Given the description of an element on the screen output the (x, y) to click on. 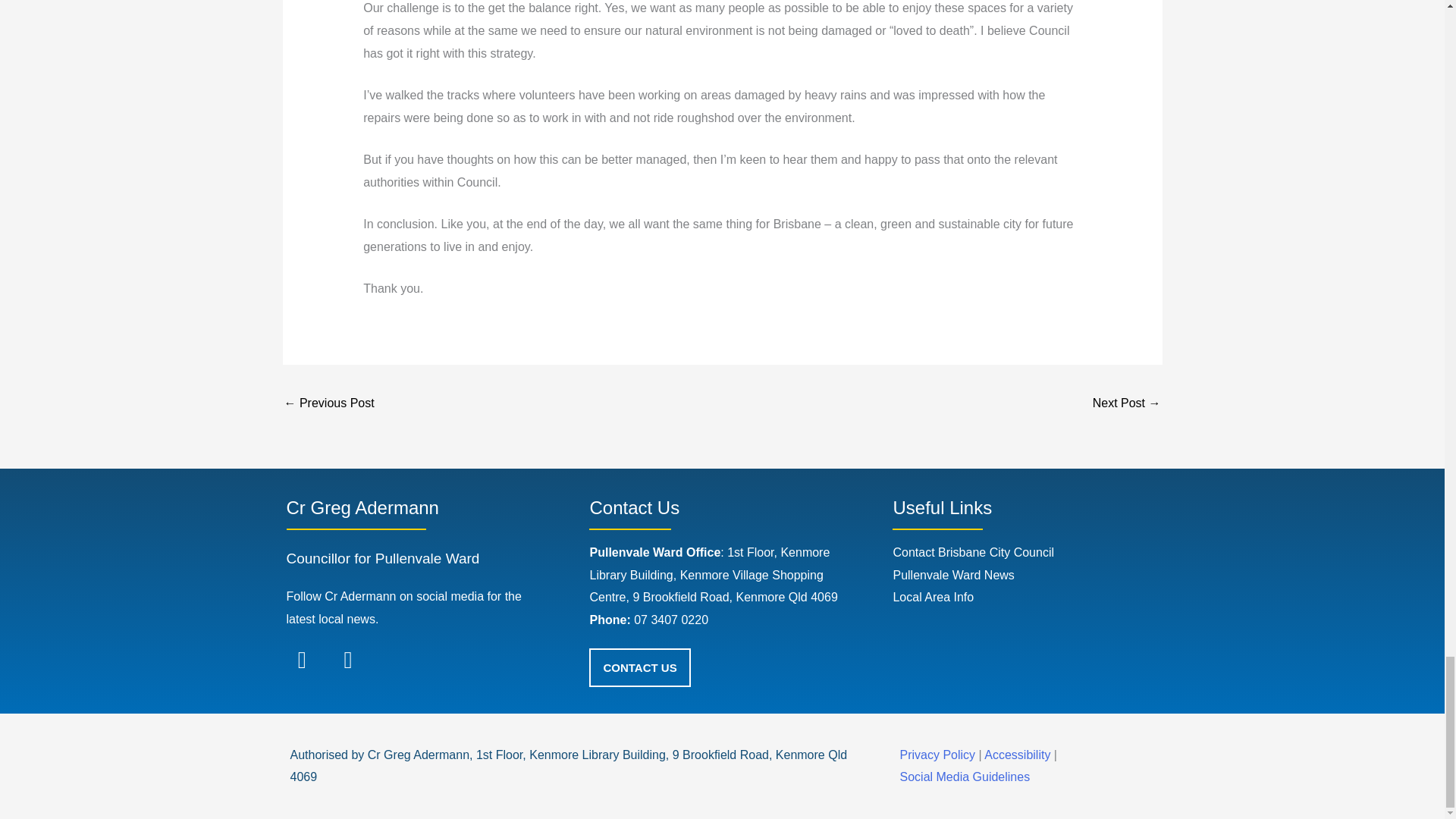
Facebook (302, 659)
Instagram (347, 659)
Privacy Policy (937, 754)
Social Media Guidelines (964, 776)
Accessibility (1019, 754)
Local Area Info (933, 596)
CONTACT US (639, 667)
Contact Brisbane City Council (973, 552)
Pullenvale Ward News (952, 574)
